Given the description of an element on the screen output the (x, y) to click on. 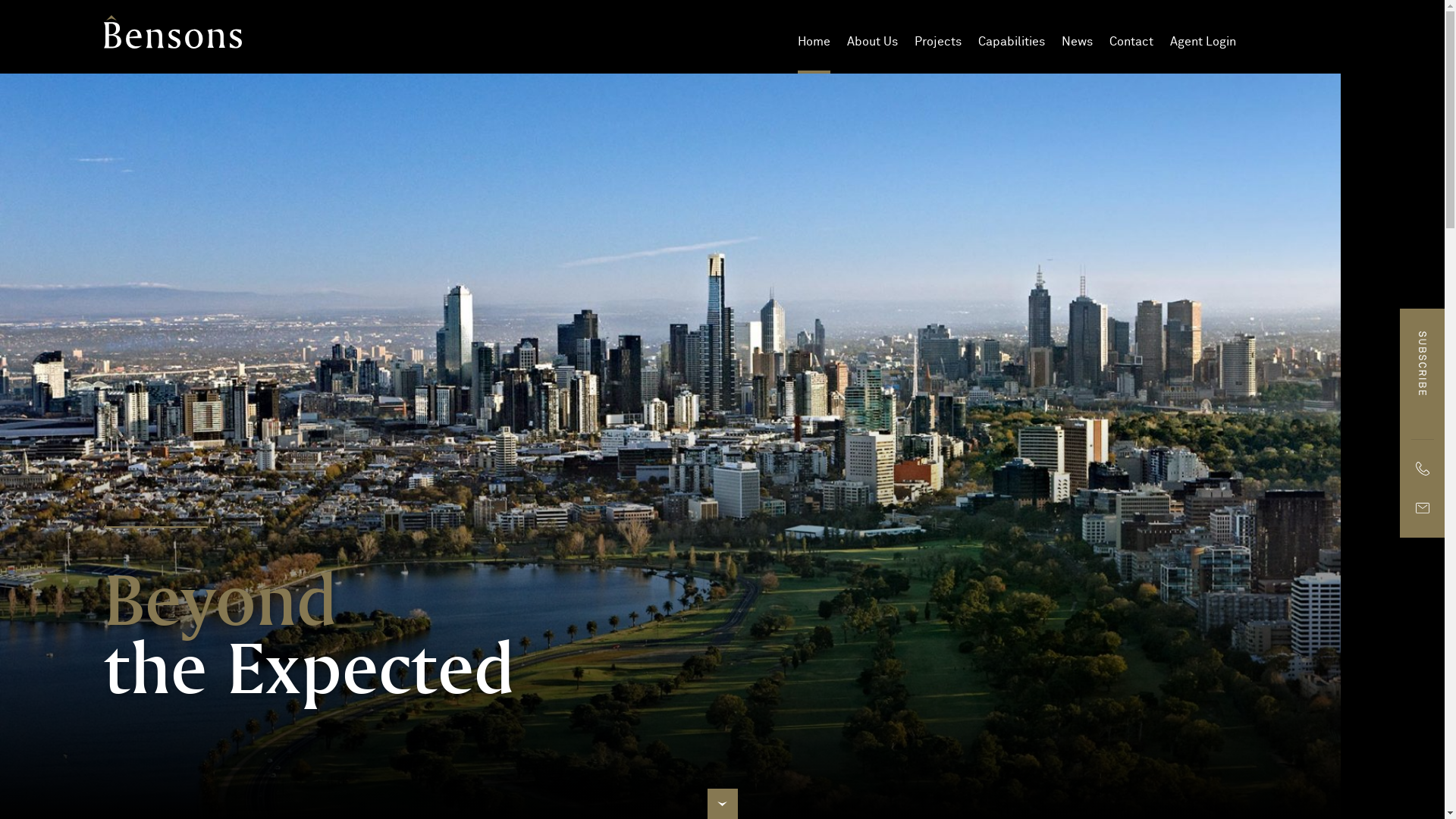
Home Element type: text (813, 41)
News Element type: text (1076, 41)
Capabilities Element type: text (1011, 41)
Contact Element type: text (1131, 41)
About Us Element type: text (872, 41)
Projects Element type: text (937, 41)
Agent Login Element type: text (1203, 41)
